Given the description of an element on the screen output the (x, y) to click on. 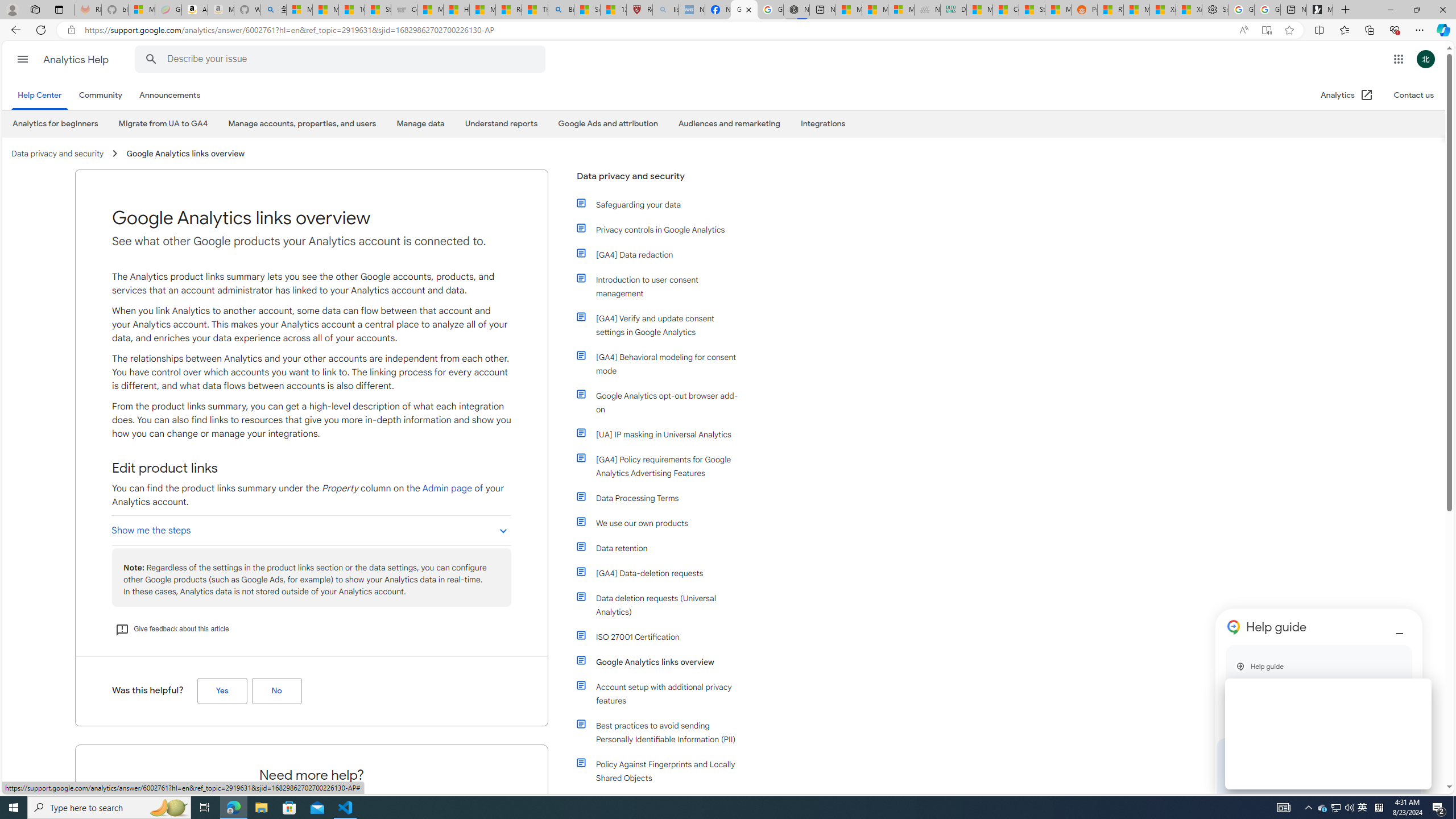
Analytics (Open in a new window) (1347, 95)
Data privacy and security (658, 180)
ISO 27001 Certification (658, 636)
Data retention (664, 548)
Give feedback about this article (172, 628)
Contact us (1413, 95)
[GA4] Verify and update consent settings in Google Analytics (664, 325)
